Given the description of an element on the screen output the (x, y) to click on. 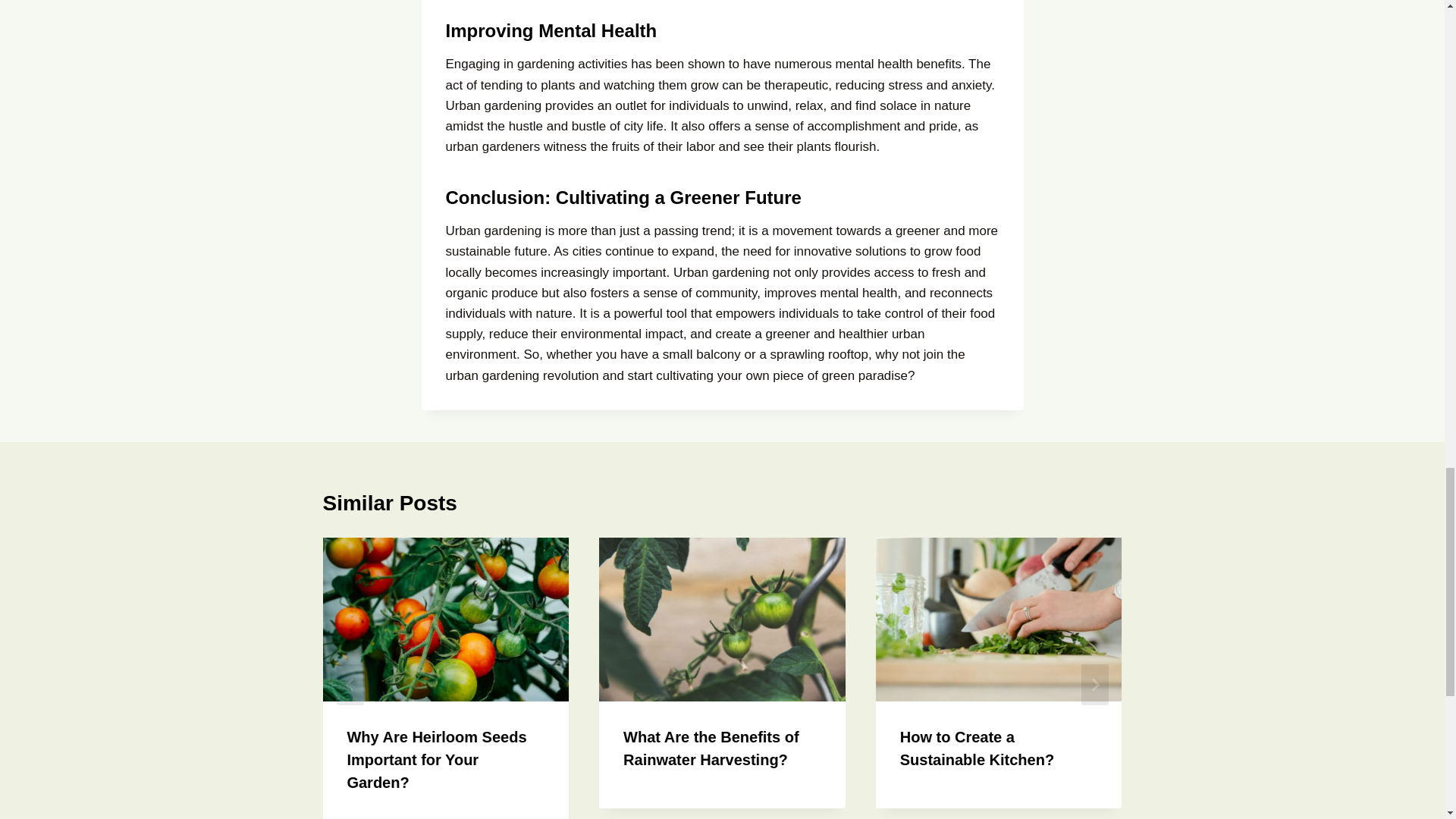
What Are the Benefits of Rainwater Harvesting? (711, 748)
Why Are Heirloom Seeds Important for Your Garden? (435, 759)
